Given the description of an element on the screen output the (x, y) to click on. 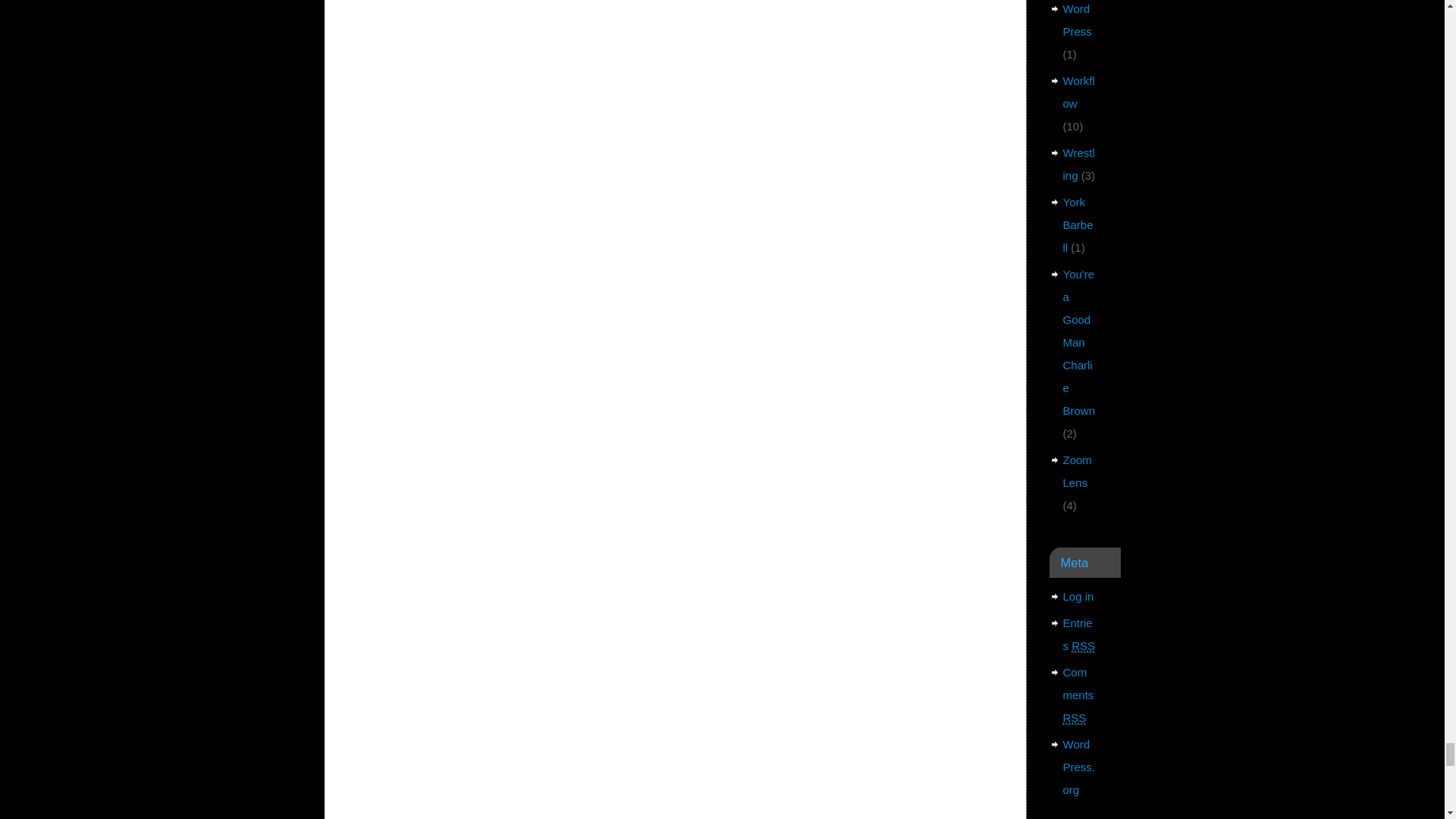
Really Simple Syndication (1082, 645)
Really Simple Syndication (1074, 717)
